Given the description of an element on the screen output the (x, y) to click on. 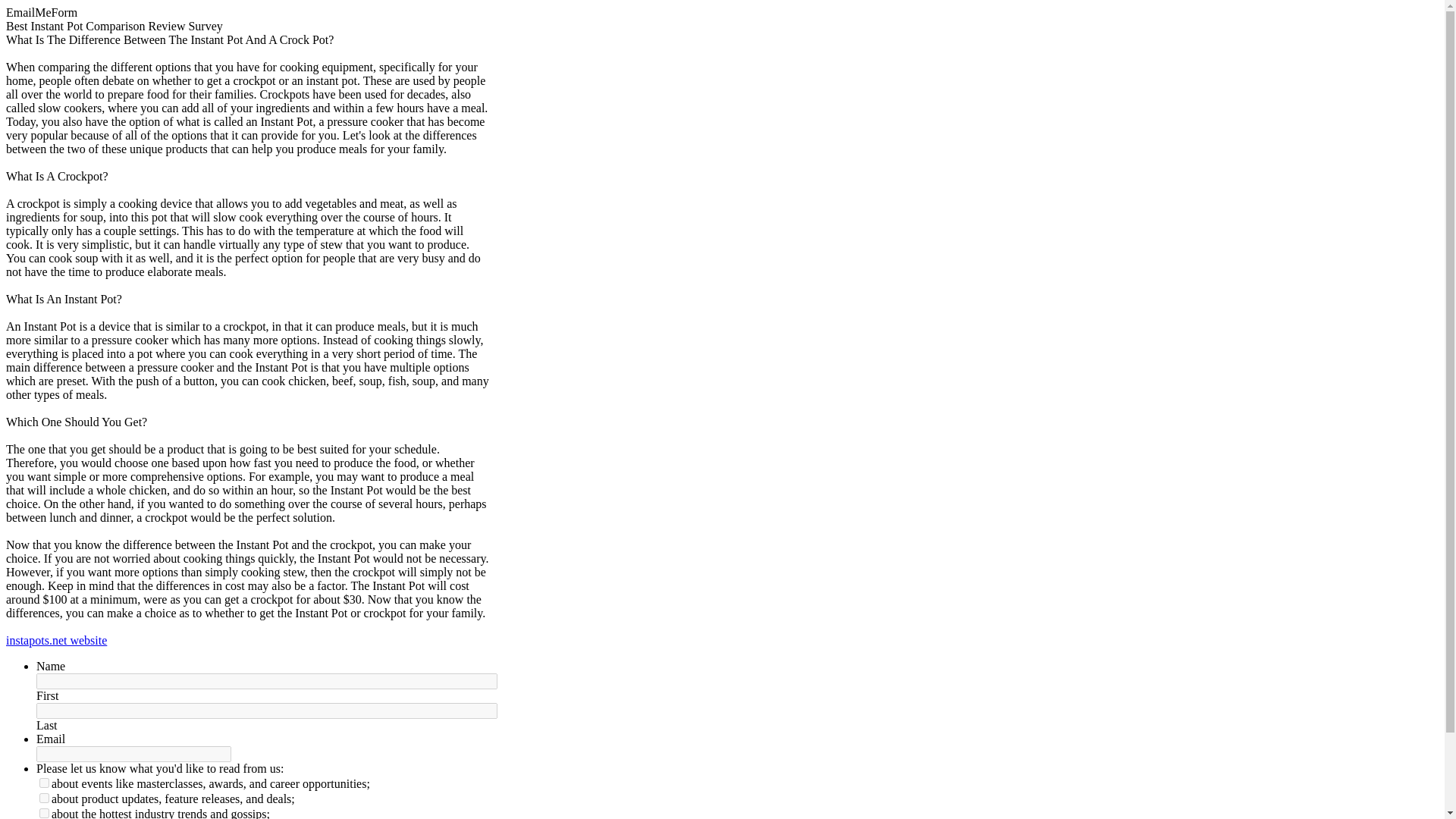
instapots.net website (55, 640)
EmailMeForm (41, 11)
about the hottest industry trends and gossips; (44, 813)
about product updates, feature releases, and deals; (44, 798)
